Given the description of an element on the screen output the (x, y) to click on. 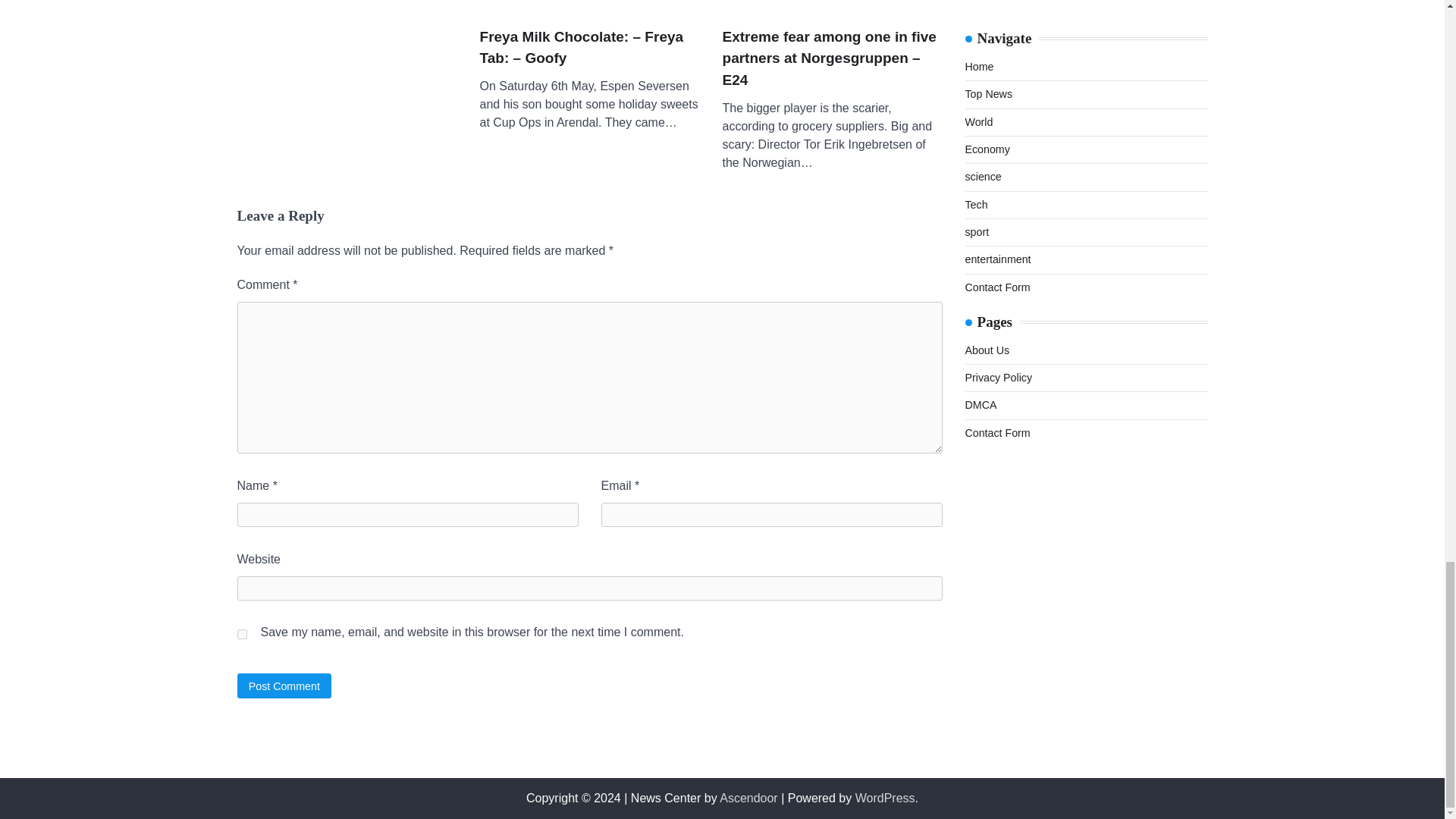
yes (240, 634)
Post Comment (283, 685)
Post Comment (283, 685)
